Given the description of an element on the screen output the (x, y) to click on. 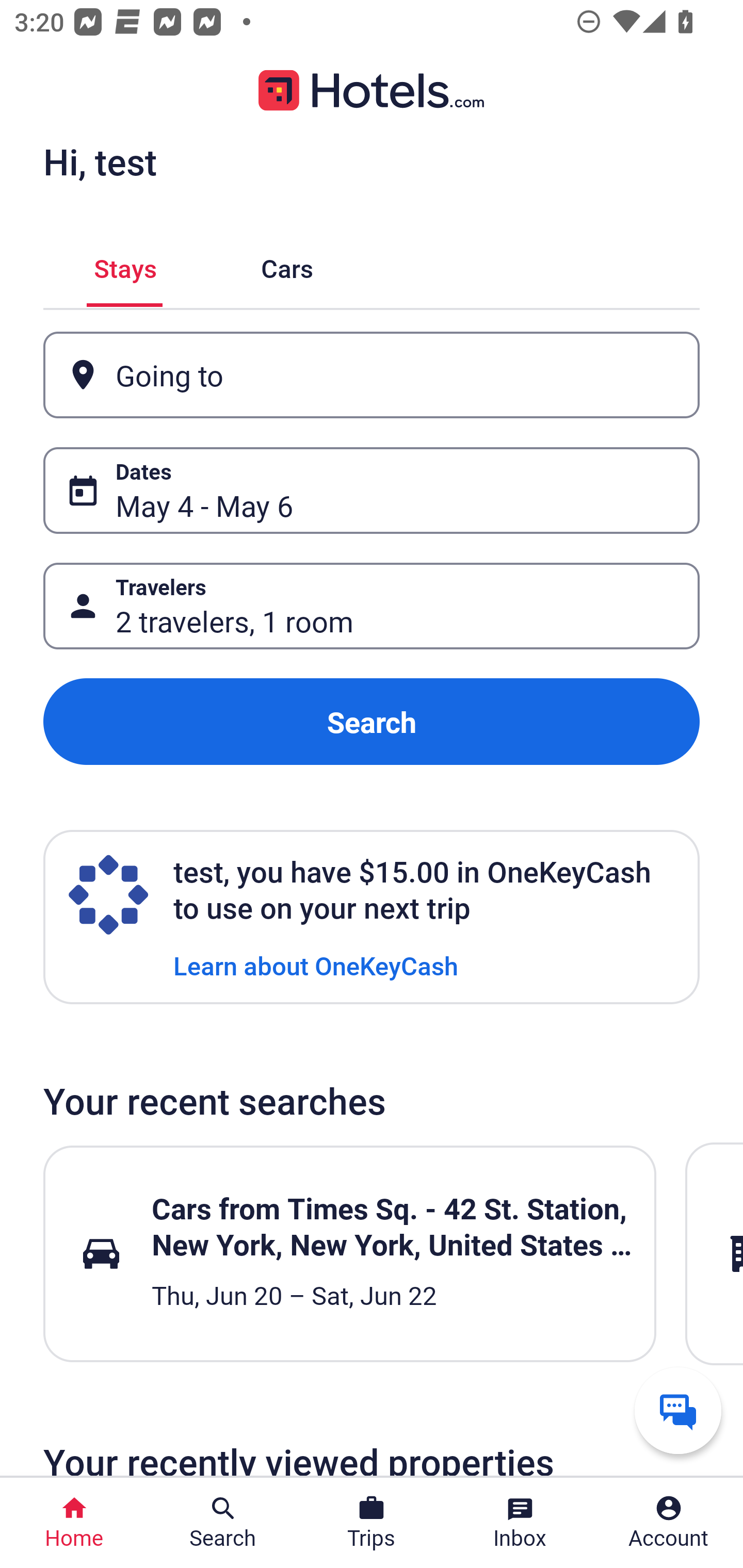
Hi, test (99, 161)
Cars (286, 265)
Going to Button (371, 375)
Dates Button May 4 - May 6 (371, 489)
Travelers Button 2 travelers, 1 room (371, 605)
Search (371, 721)
Learn about OneKeyCash Learn about OneKeyCash Link (315, 964)
Get help from a virtual agent (677, 1410)
Search Search Button (222, 1522)
Trips Trips Button (371, 1522)
Inbox Inbox Button (519, 1522)
Account Profile. Button (668, 1522)
